Given the description of an element on the screen output the (x, y) to click on. 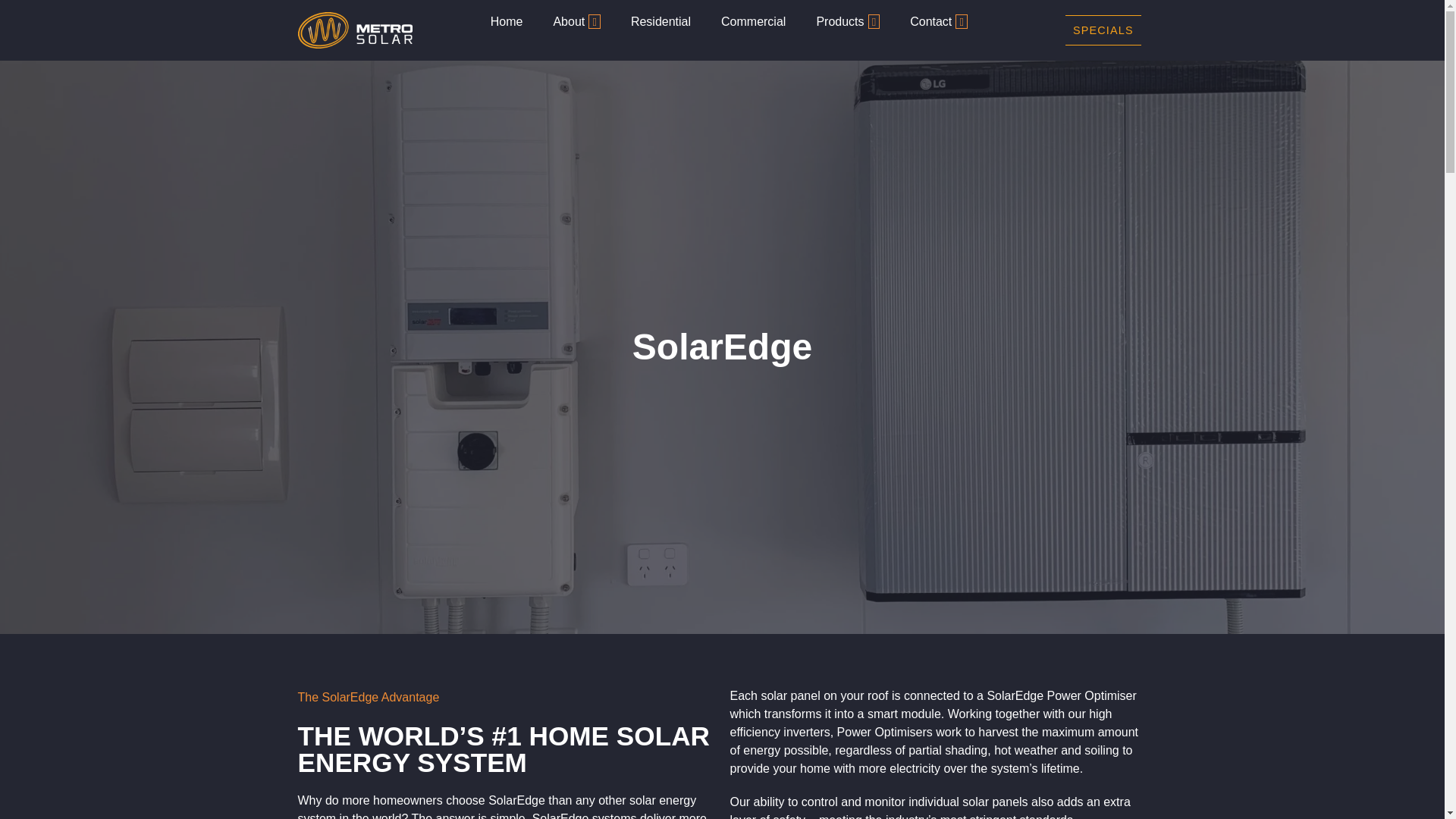
Commercial (753, 22)
Contact (938, 22)
About (575, 22)
SPECIALS (1103, 30)
Residential (660, 22)
Products (847, 22)
Home (507, 22)
